Given the description of an element on the screen output the (x, y) to click on. 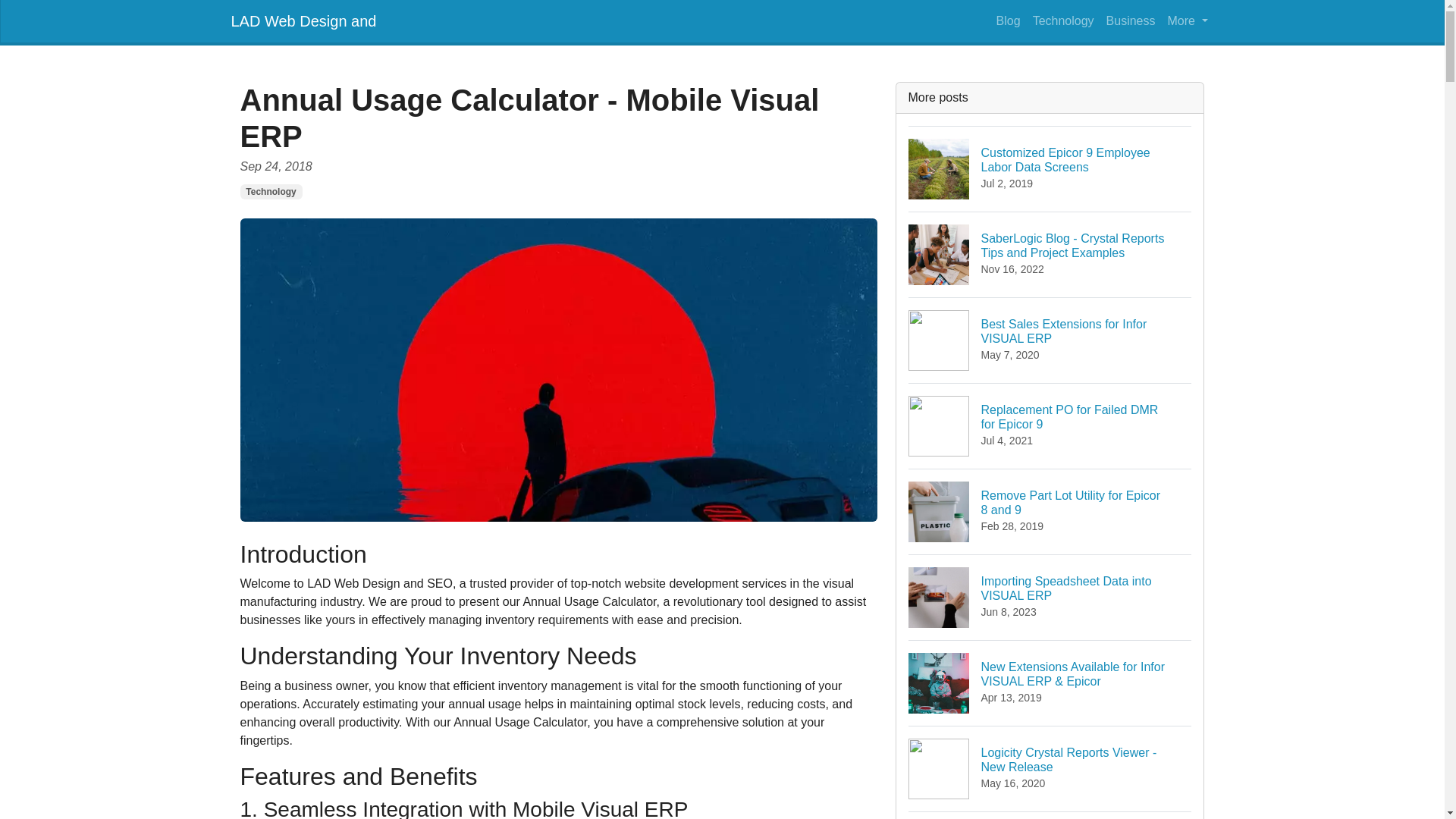
Blog (1008, 20)
More (1187, 20)
Technology (1050, 168)
LAD Web Design and (270, 191)
Technology (302, 20)
Business (1050, 340)
